Given the description of an element on the screen output the (x, y) to click on. 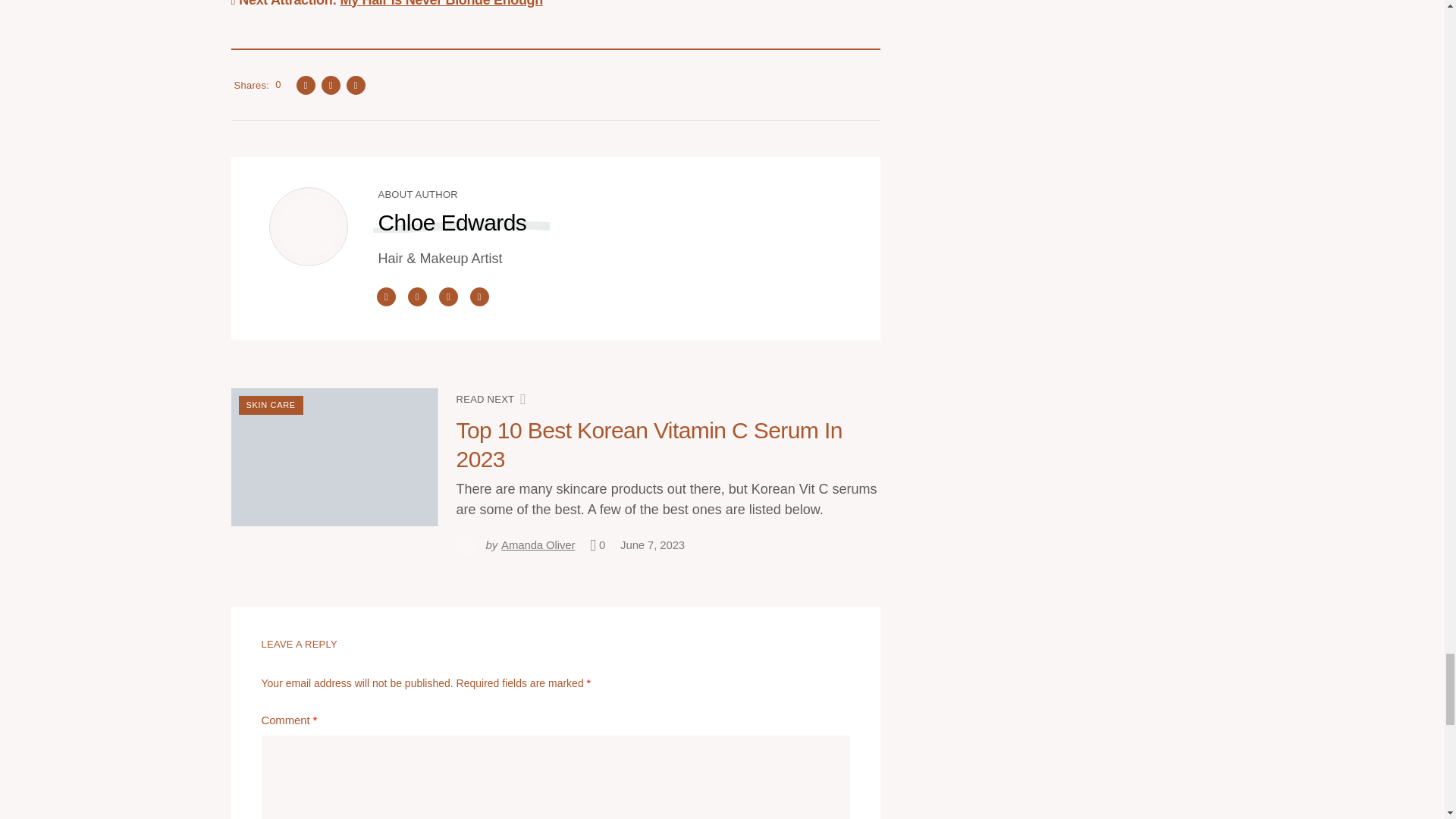
View all posts by Amanda Oliver (516, 544)
